Given the description of an element on the screen output the (x, y) to click on. 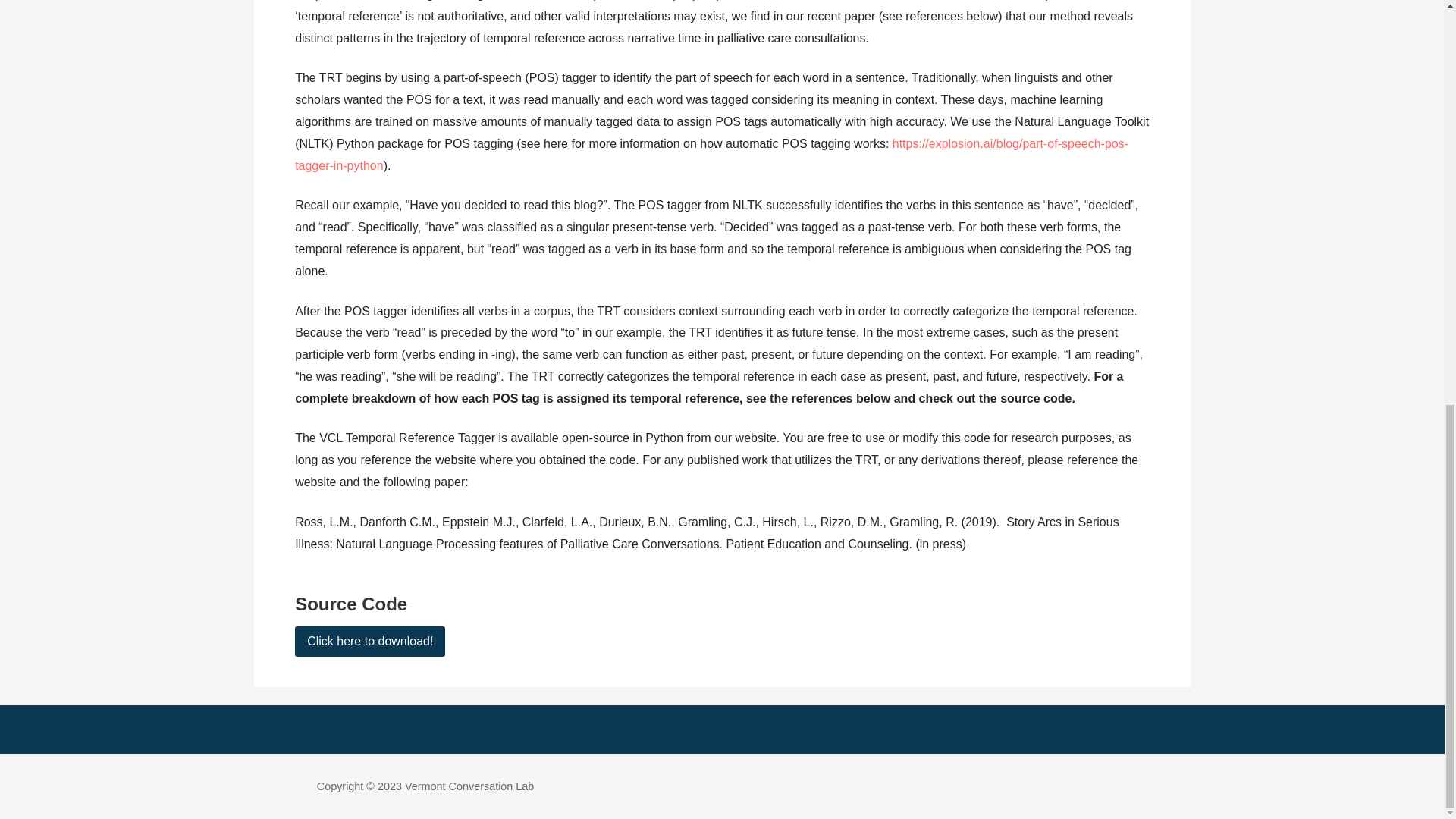
Click here to download! (370, 641)
